Given the description of an element on the screen output the (x, y) to click on. 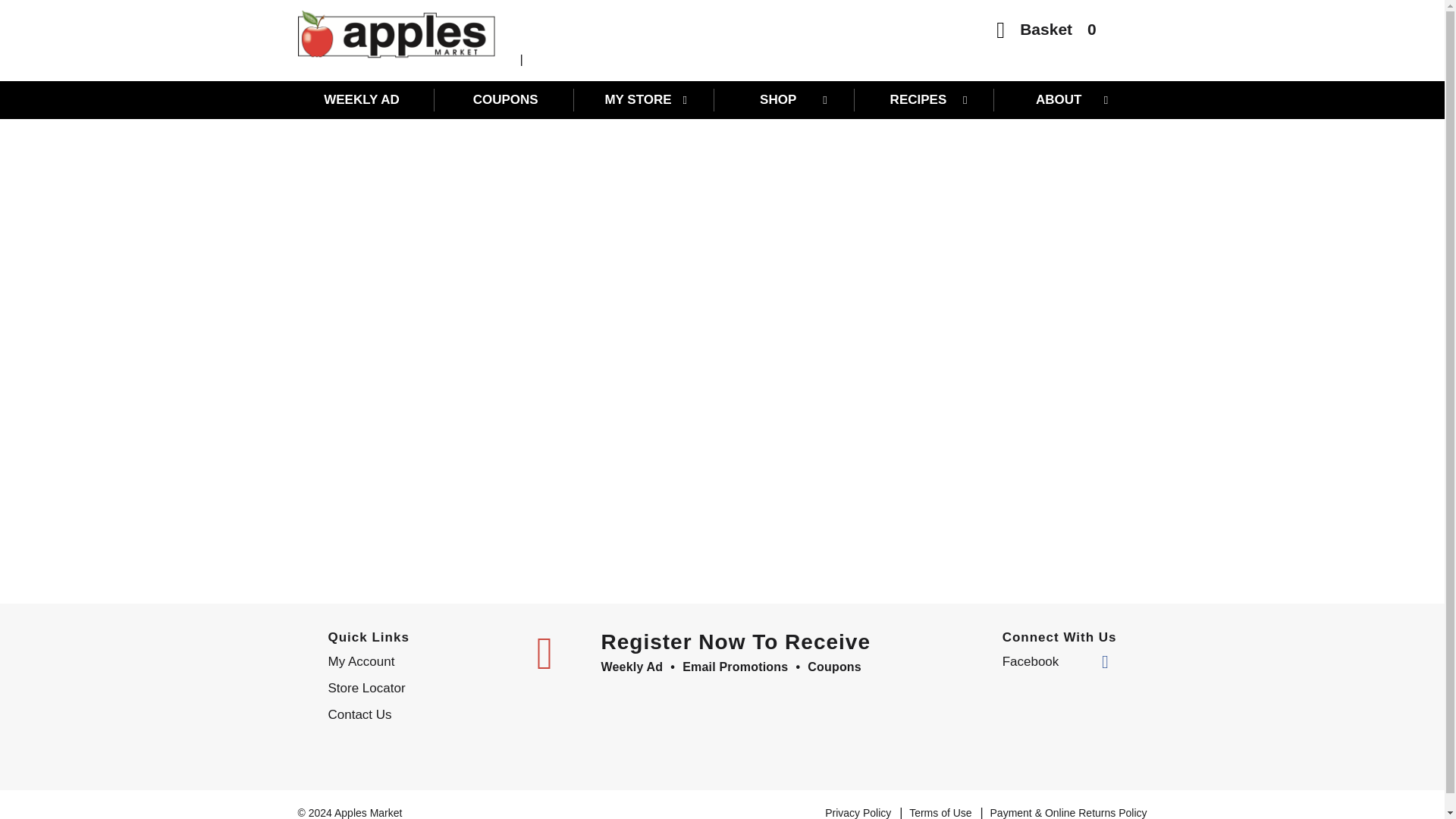
Contact Us (420, 714)
Store Locator (420, 688)
My Account (420, 661)
Facebook (1055, 661)
Basket0 (1045, 33)
WEEKLY AD (365, 99)
MY STORE (646, 99)
ABOUT (1065, 99)
RECIPES (925, 99)
SHOP (785, 99)
facebook (1055, 661)
COUPONS (505, 99)
